Given the description of an element on the screen output the (x, y) to click on. 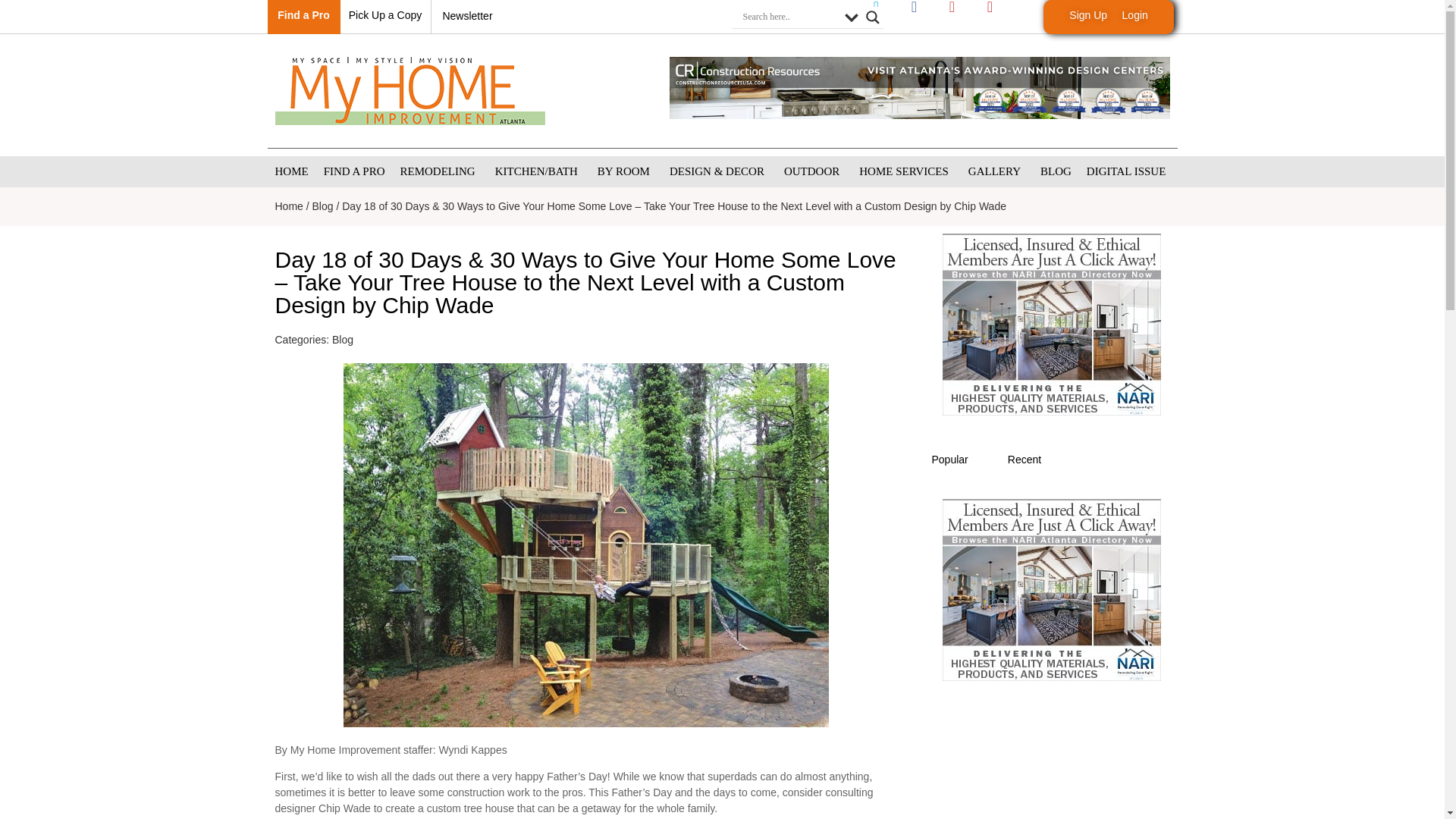
Newsletter (467, 15)
Pick Up a Copy (385, 15)
Sign Up (1087, 15)
Login (1135, 15)
Find a Pro (303, 15)
